Given the description of an element on the screen output the (x, y) to click on. 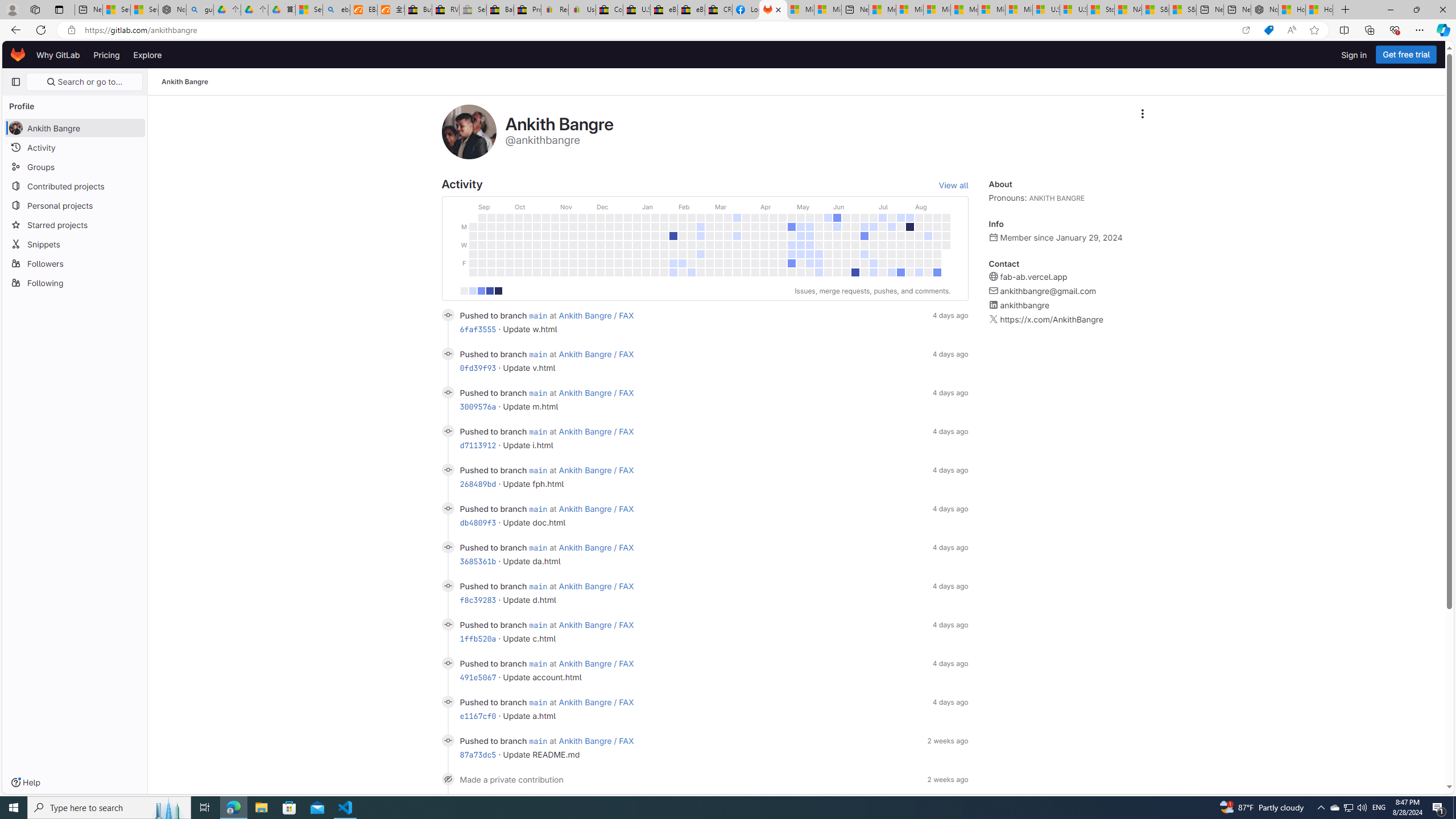
Ankith Bangre (184, 81)
https://x.com/AnkithBangre (1051, 319)
Followers (74, 262)
Class: s14 icon (448, 778)
